Given the description of an element on the screen output the (x, y) to click on. 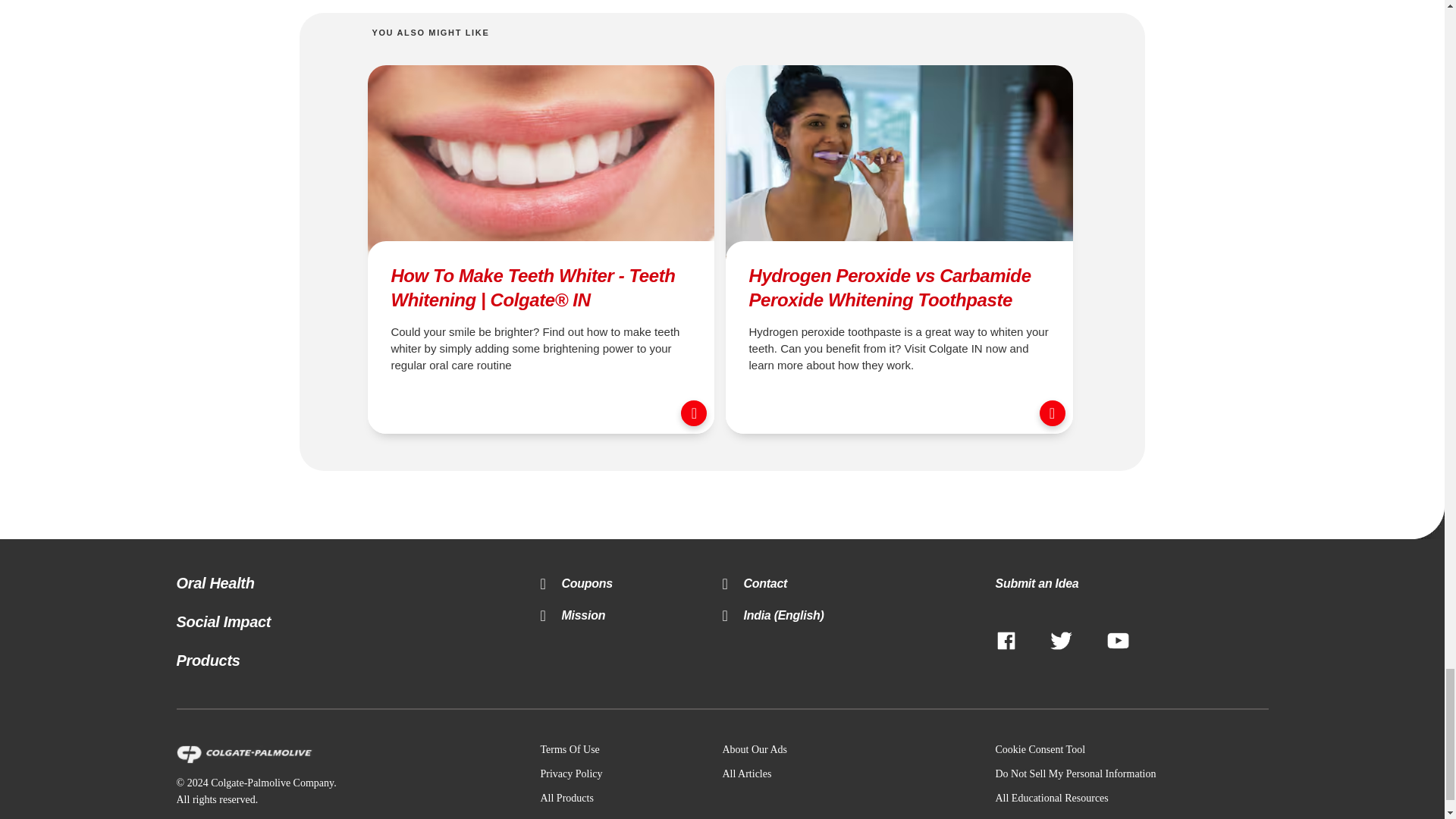
Twitter (1061, 641)
Facebook (1005, 641)
YouTube (1118, 641)
